Given the description of an element on the screen output the (x, y) to click on. 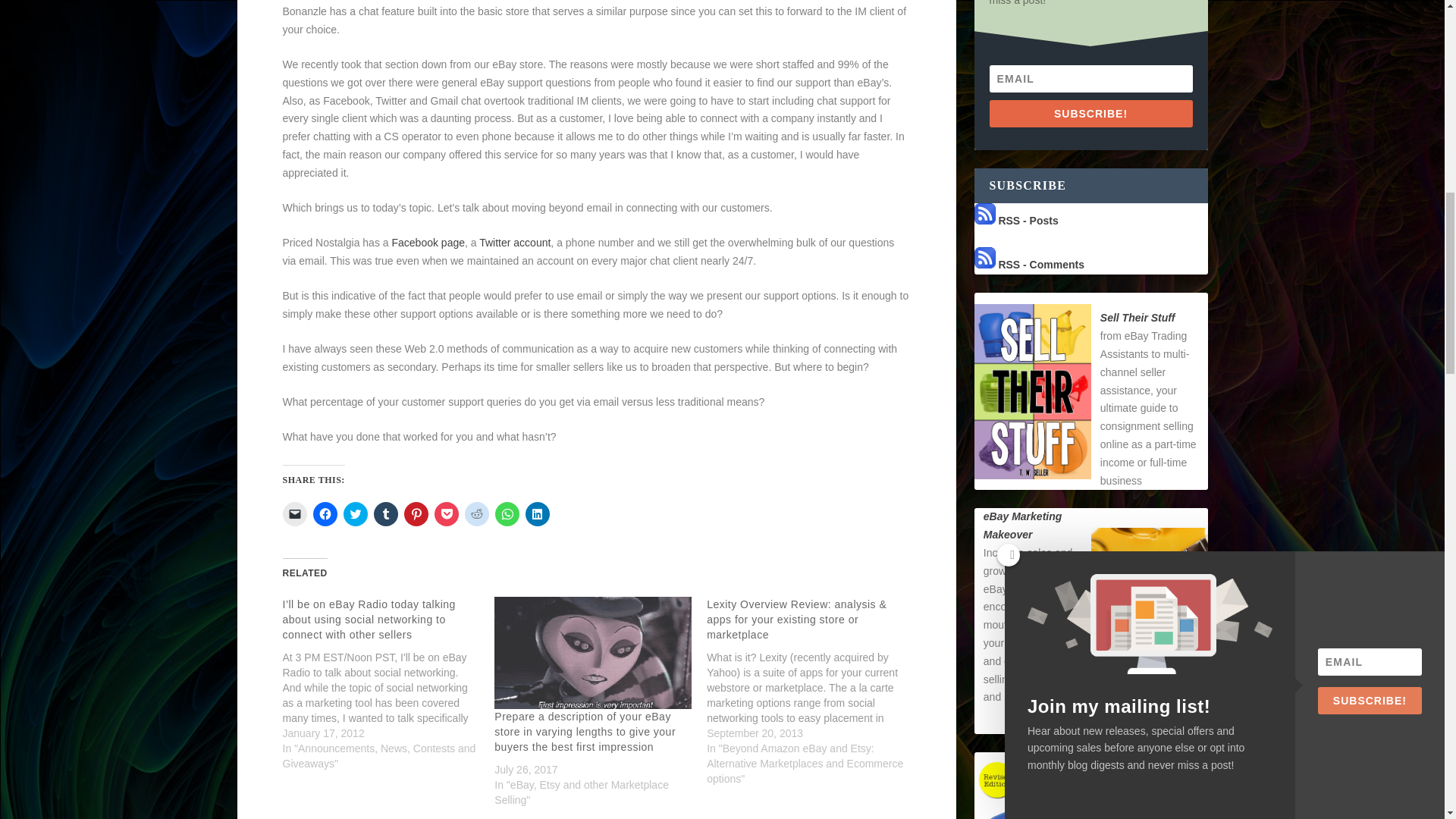
Click to share on Facebook (324, 514)
Click to share on WhatsApp (506, 514)
Click to share on Tumblr (384, 514)
Click to share on Reddit (475, 514)
Click to share on LinkedIn (536, 514)
Click to email a link to a friend (293, 514)
Click to share on Pocket (445, 514)
Click to share on Twitter (354, 514)
Click to share on Pinterest (415, 514)
